Given the description of an element on the screen output the (x, y) to click on. 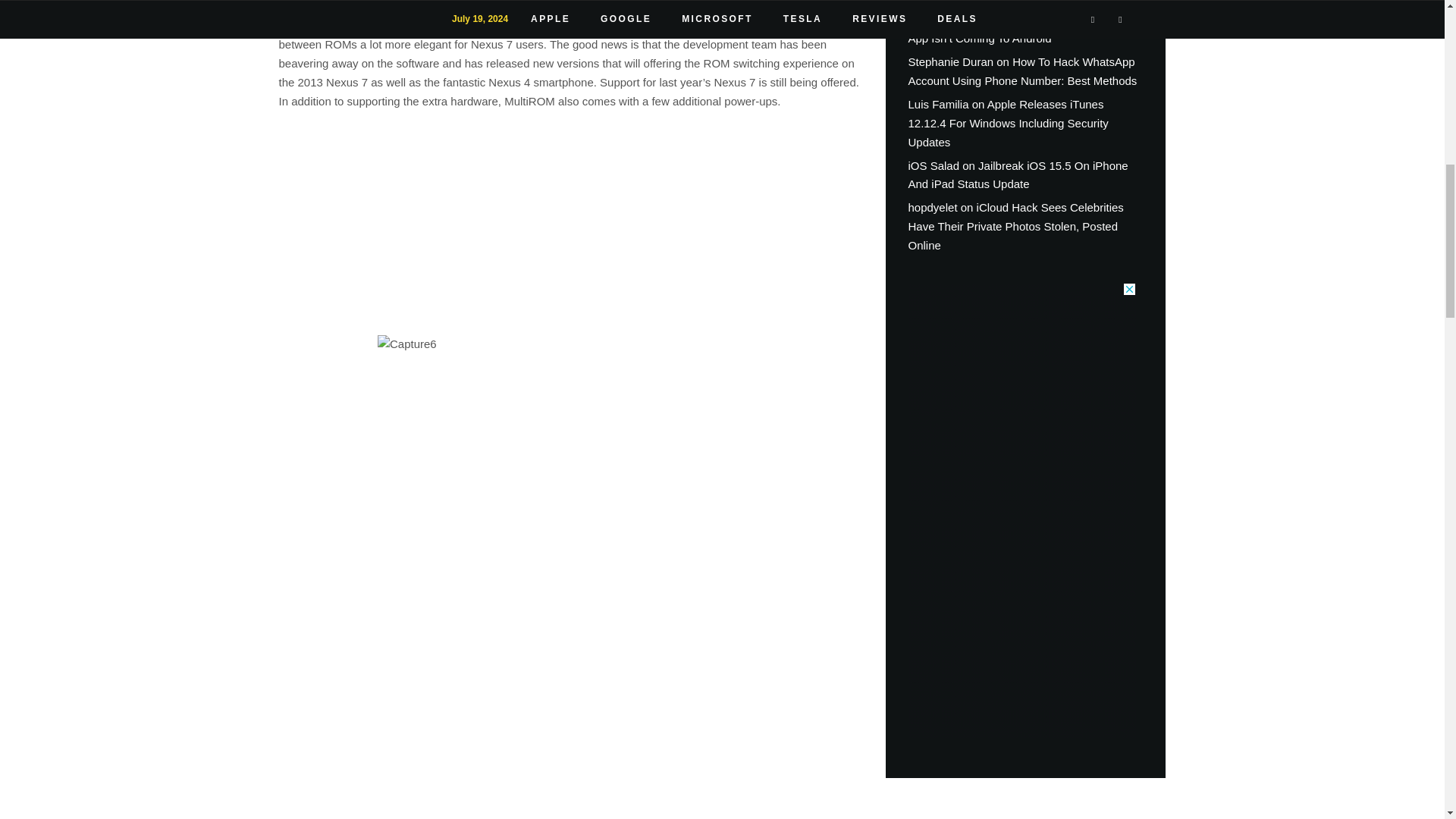
3rd party ad content (1021, 509)
